Given the description of an element on the screen output the (x, y) to click on. 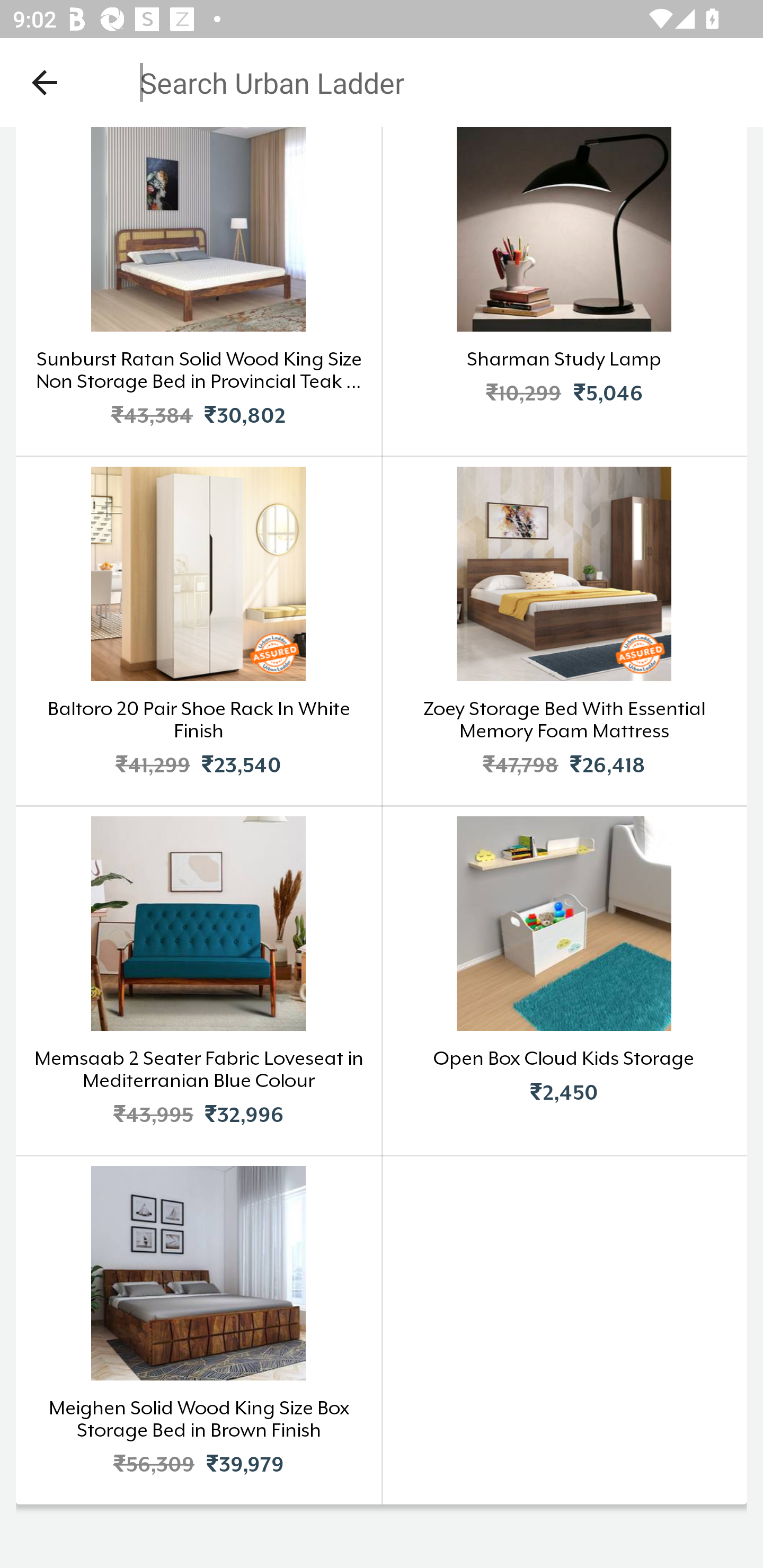
Collapse (44, 82)
Search Urban Ladder (368, 82)
Sharman Study Lamp ₹10,299 ₹5,046 (564, 290)
Open Box Cloud Kids Storage ₹2,450 (564, 979)
